Given the description of an element on the screen output the (x, y) to click on. 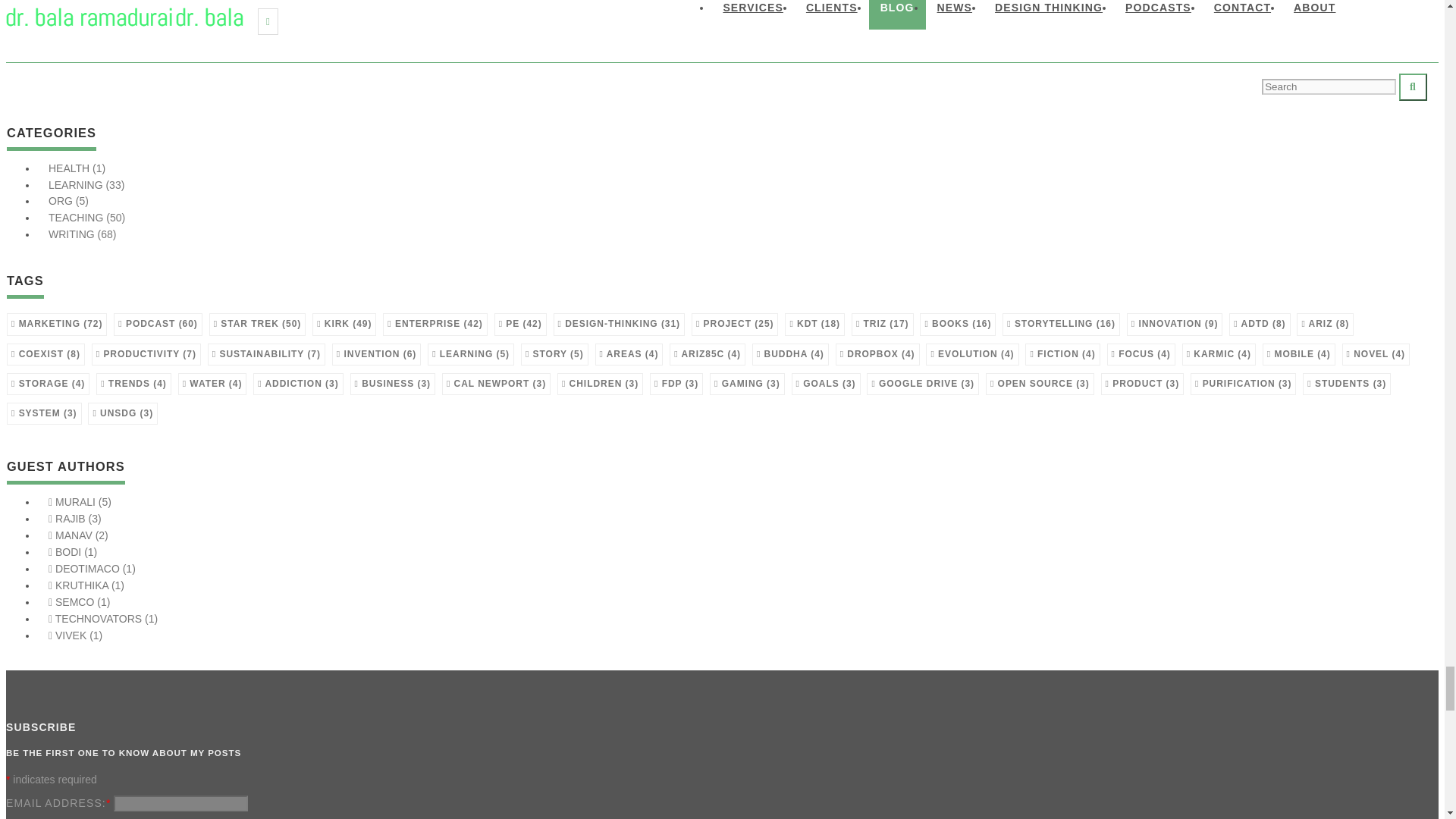
SUBMIT (38, 12)
